Given the description of an element on the screen output the (x, y) to click on. 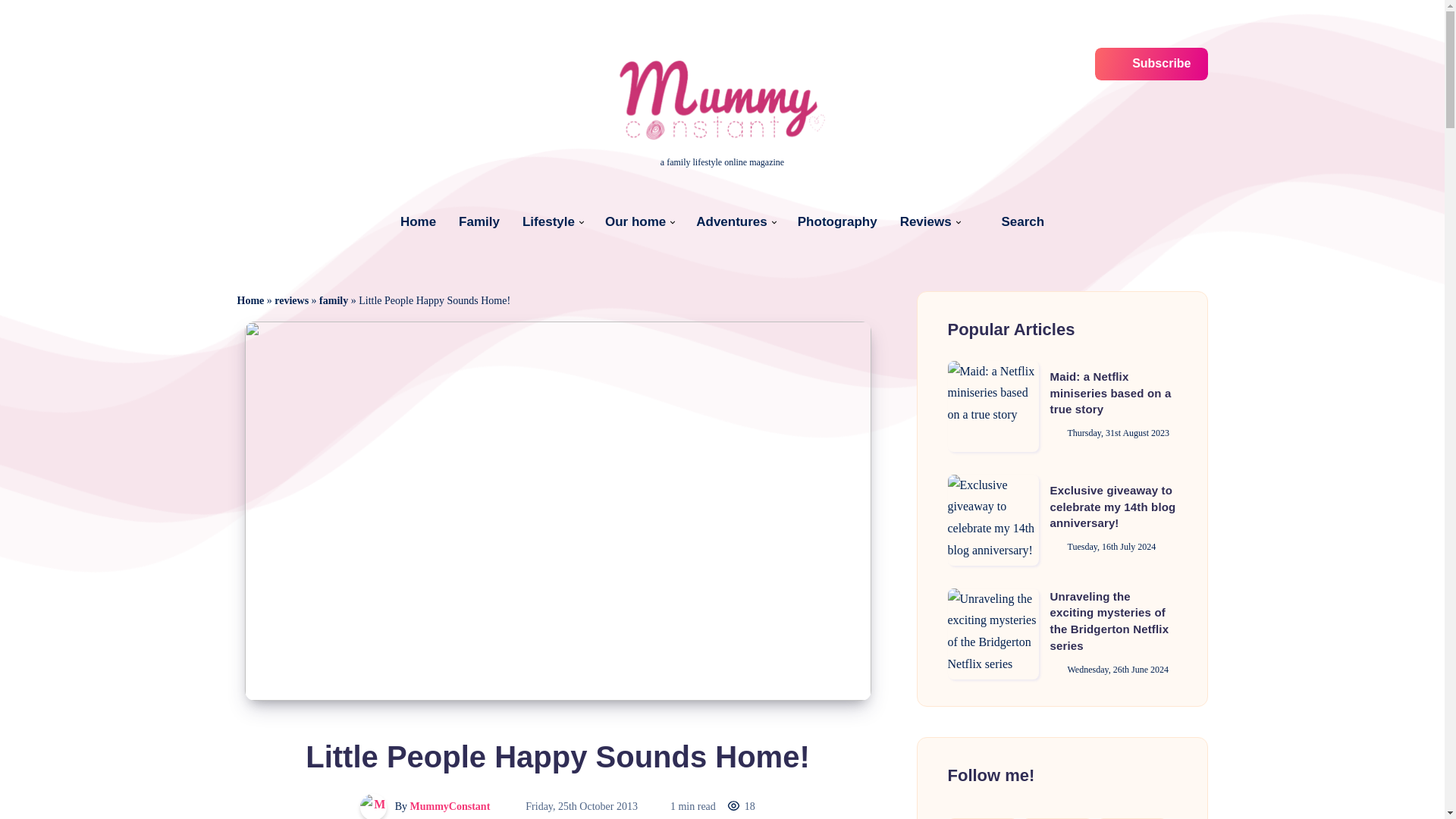
Adventures (731, 221)
Our home (635, 221)
Search (1012, 221)
Reviews (925, 221)
Family (478, 221)
18 Views (740, 806)
Subscribe (1151, 63)
Photography (837, 221)
Lifestyle (548, 221)
Home (417, 221)
